Given the description of an element on the screen output the (x, y) to click on. 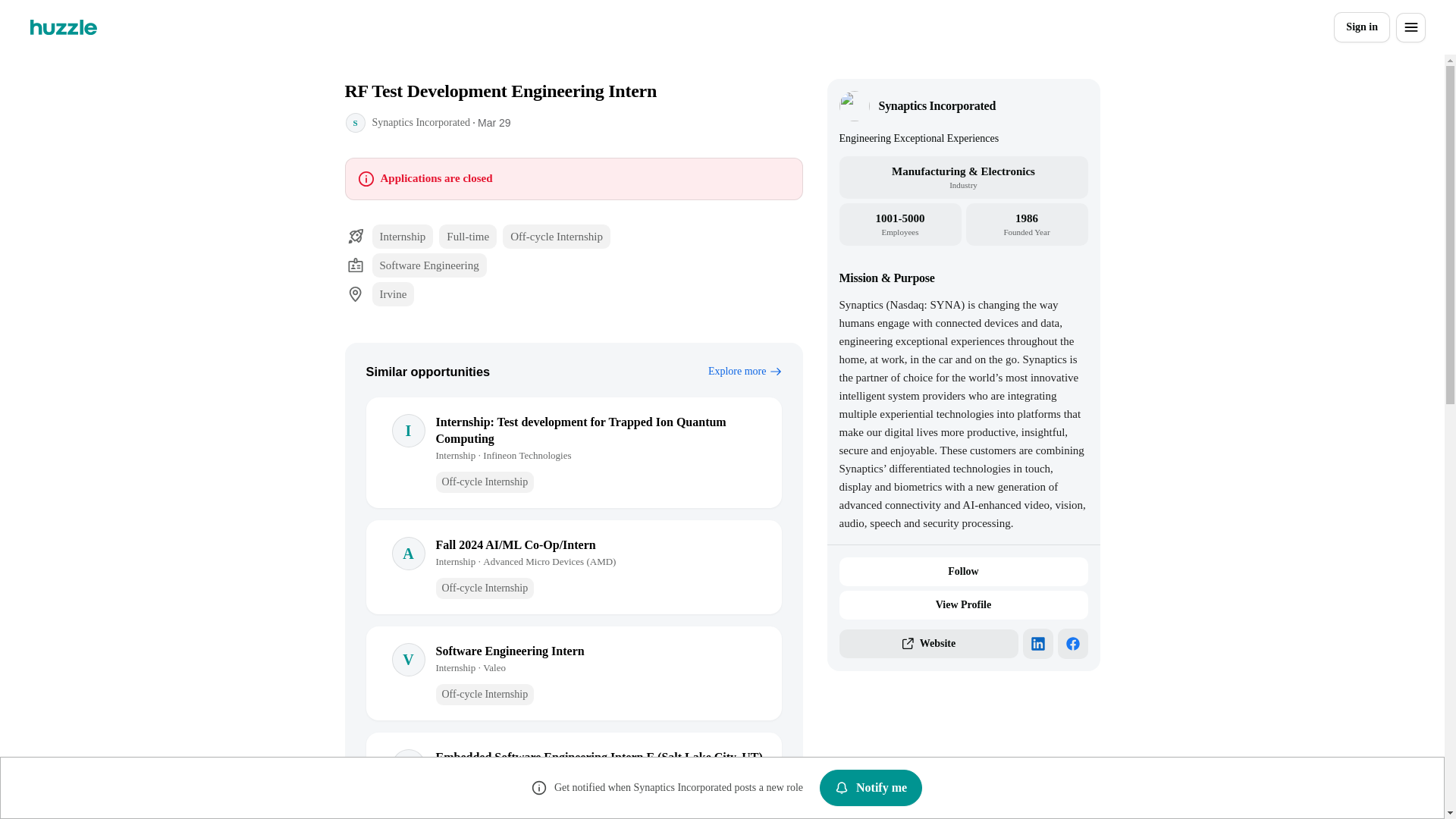
S (354, 122)
L (408, 765)
Synaptics Incorporated (419, 122)
Synaptics Incorporated (936, 105)
I (408, 430)
Follow (962, 571)
Notify me (870, 787)
A (408, 553)
V (408, 659)
Sign in (1361, 27)
View Profile (962, 604)
Website (927, 643)
Explore more (744, 371)
